Given the description of an element on the screen output the (x, y) to click on. 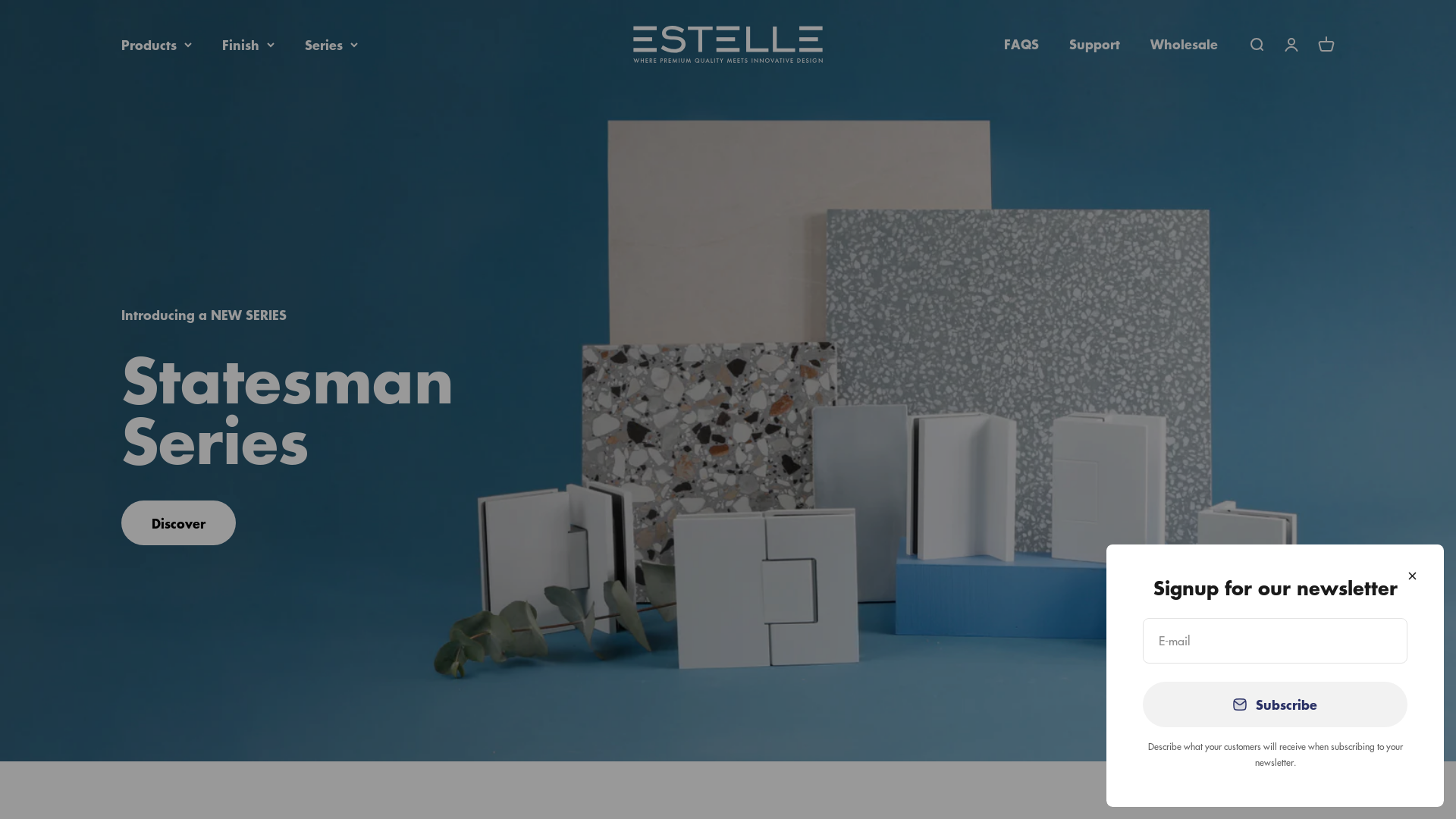
Support Element type: text (1094, 43)
SHOP NOW Element type: text (189, 522)
Go to item 3 Element type: text (1361, 715)
Open account page Element type: text (1291, 44)
Go to item 2 Element type: text (1334, 715)
Open cart
0 Element type: text (1325, 44)
Wholesale Element type: text (1183, 43)
Go to item 4 Element type: text (1389, 715)
Products Element type: text (156, 44)
FAQS Element type: text (1021, 43)
Go to item 1 Element type: text (1313, 715)
Go to item 5 Element type: text (1410, 715)
Estelle Element type: text (727, 43)
Open search Element type: text (1256, 44)
Subscribe Element type: text (1274, 704)
